Given the description of an element on the screen output the (x, y) to click on. 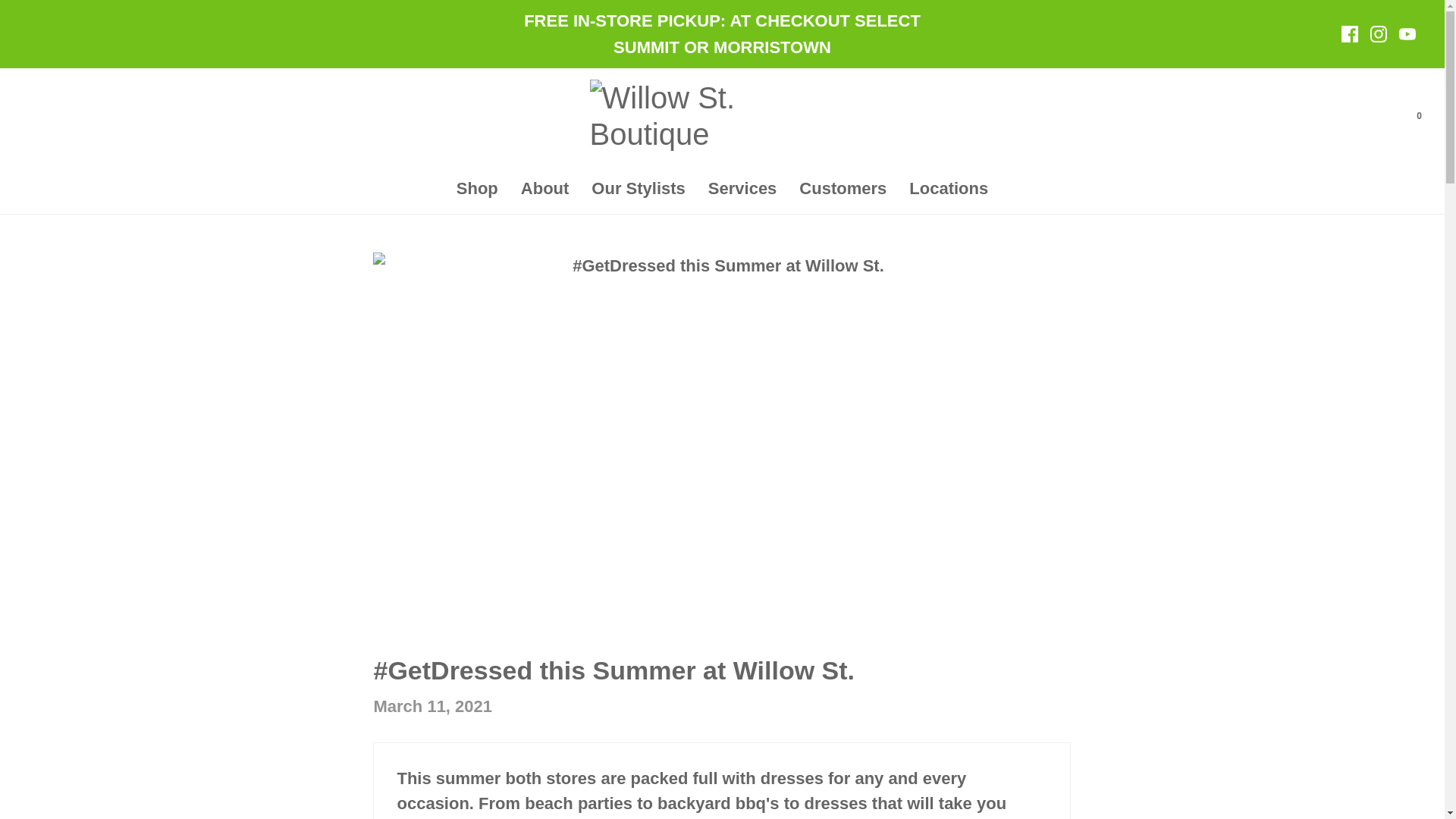
Facebook icon (1349, 33)
Instagram icon (1378, 33)
YouTube icon (1407, 33)
Instagram icon (1378, 33)
Facebook icon (1349, 33)
YouTube icon (1407, 33)
